Given the description of an element on the screen output the (x, y) to click on. 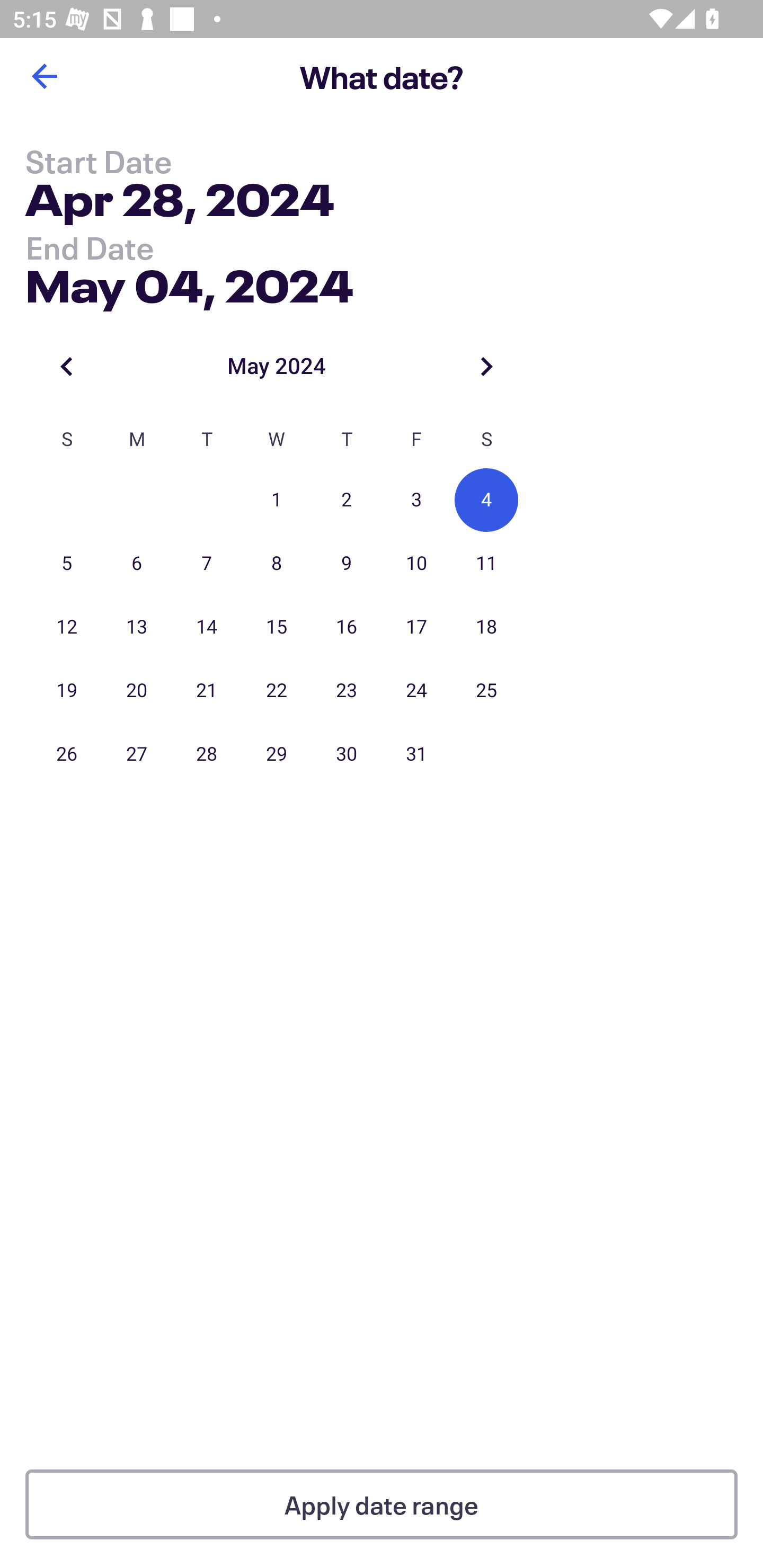
Back button (44, 75)
Apr 28, 2024 (179, 203)
May 04, 2024 (189, 282)
Previous month (66, 365)
Next month (486, 365)
1 01 May 2024 (276, 499)
2 02 May 2024 (346, 499)
3 03 May 2024 (416, 499)
4 04 May 2024 (486, 499)
5 05 May 2024 (66, 563)
6 06 May 2024 (136, 563)
7 07 May 2024 (206, 563)
8 08 May 2024 (276, 563)
9 09 May 2024 (346, 563)
10 10 May 2024 (416, 563)
11 11 May 2024 (486, 563)
12 12 May 2024 (66, 626)
13 13 May 2024 (136, 626)
14 14 May 2024 (206, 626)
15 15 May 2024 (276, 626)
16 16 May 2024 (346, 626)
17 17 May 2024 (416, 626)
18 18 May 2024 (486, 626)
19 19 May 2024 (66, 690)
20 20 May 2024 (136, 690)
21 21 May 2024 (206, 690)
22 22 May 2024 (276, 690)
23 23 May 2024 (346, 690)
24 24 May 2024 (416, 690)
25 25 May 2024 (486, 690)
26 26 May 2024 (66, 753)
27 27 May 2024 (136, 753)
28 28 May 2024 (206, 753)
29 29 May 2024 (276, 753)
30 30 May 2024 (346, 753)
31 31 May 2024 (416, 753)
Apply date range (381, 1504)
